Given the description of an element on the screen output the (x, y) to click on. 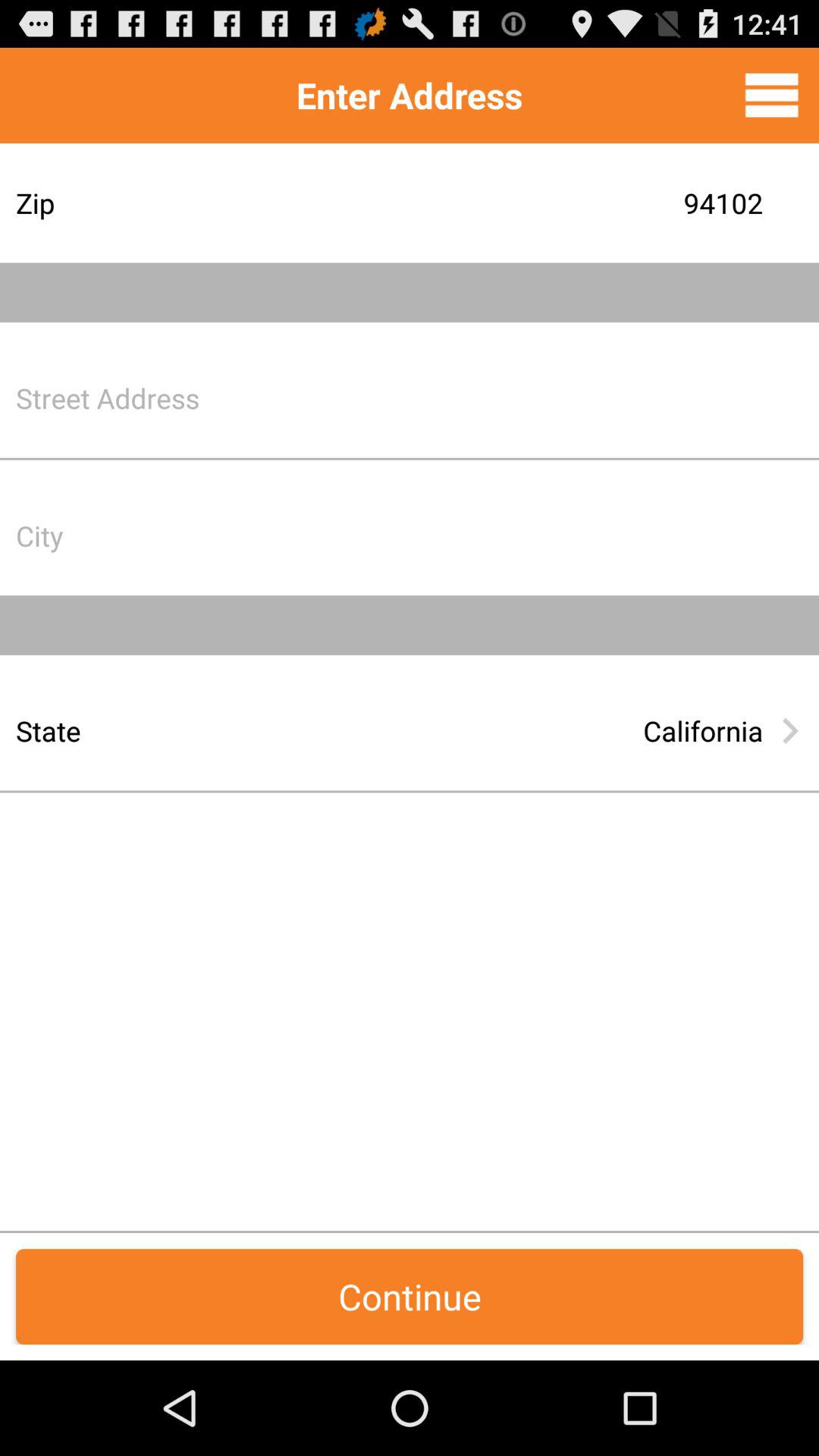
shows written box (527, 535)
